Given the description of an element on the screen output the (x, y) to click on. 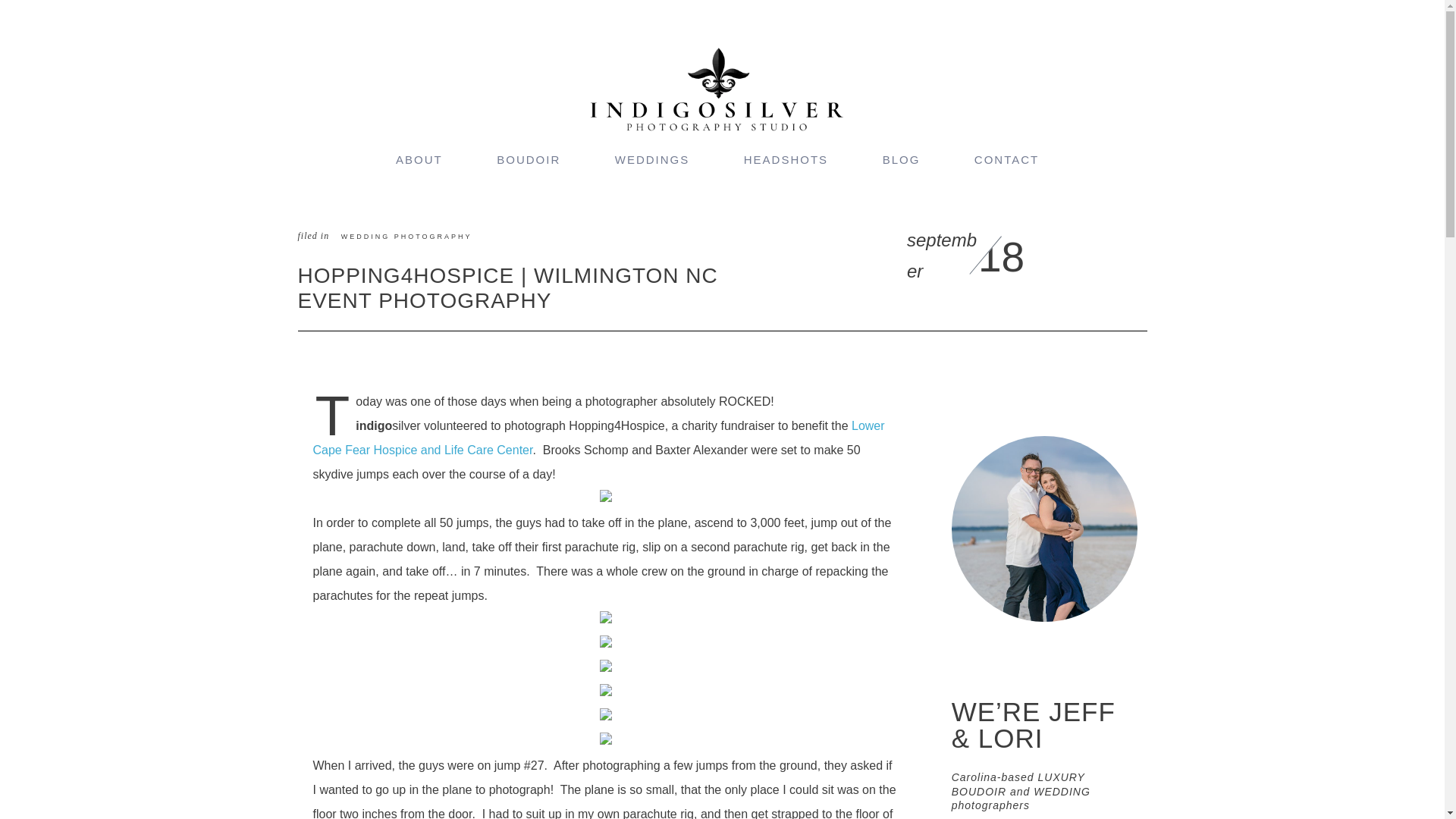
BLOG (901, 158)
Lower Cape Fear Hospice and Life Care Center (598, 437)
BOUDOIR (528, 158)
september (944, 256)
18 (1001, 257)
CONTACT (1006, 158)
HEADSHOTS (786, 158)
WEDDINGS (652, 158)
ABOUT (418, 158)
WEDDING PHOTOGRAPHY (405, 236)
